Given the description of an element on the screen output the (x, y) to click on. 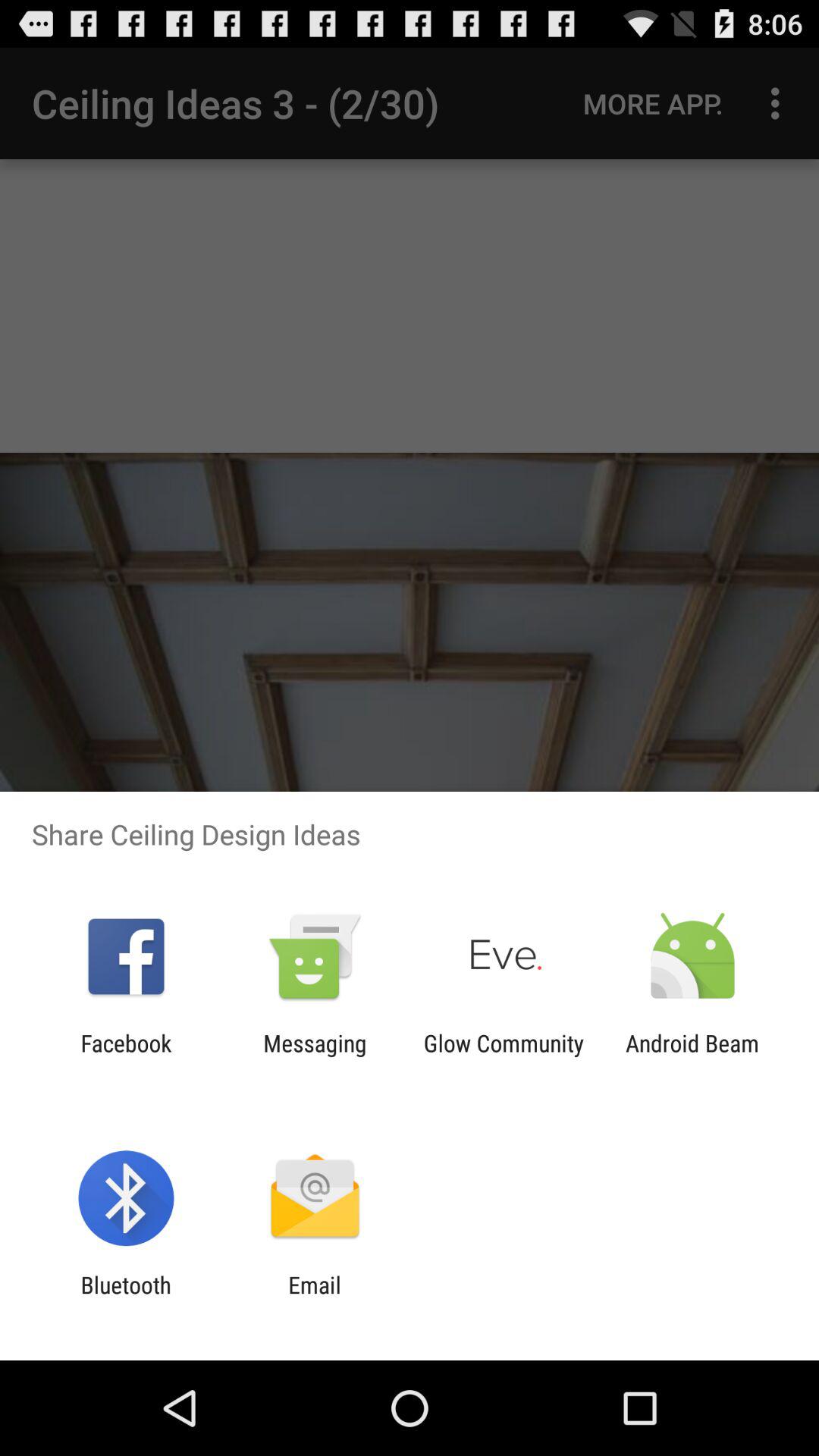
tap icon to the right of the glow community (692, 1056)
